Given the description of an element on the screen output the (x, y) to click on. 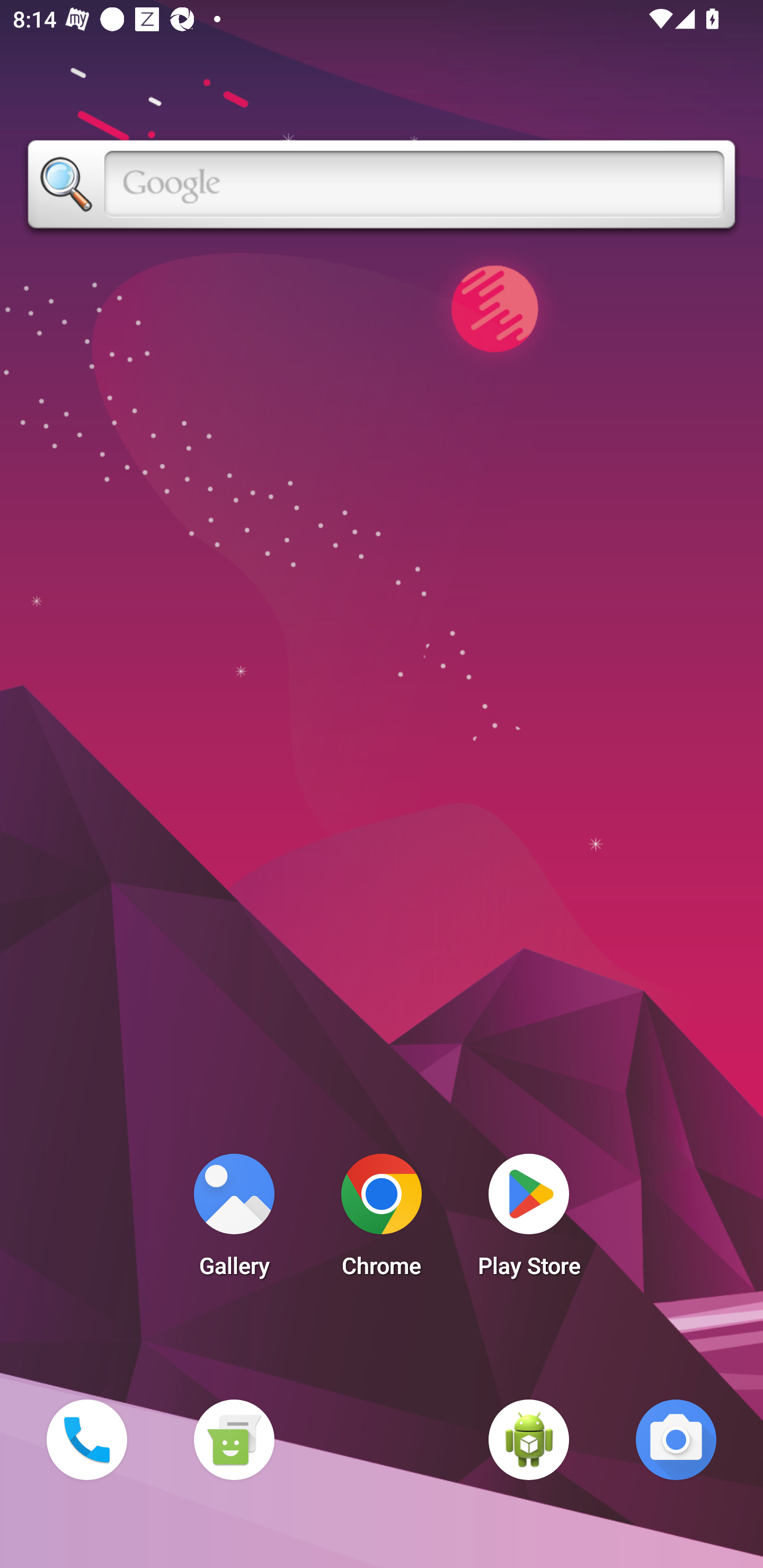
Gallery (233, 1220)
Chrome (381, 1220)
Play Store (528, 1220)
Phone (86, 1439)
Messaging (233, 1439)
WebView Browser Tester (528, 1439)
Camera (676, 1439)
